Given the description of an element on the screen output the (x, y) to click on. 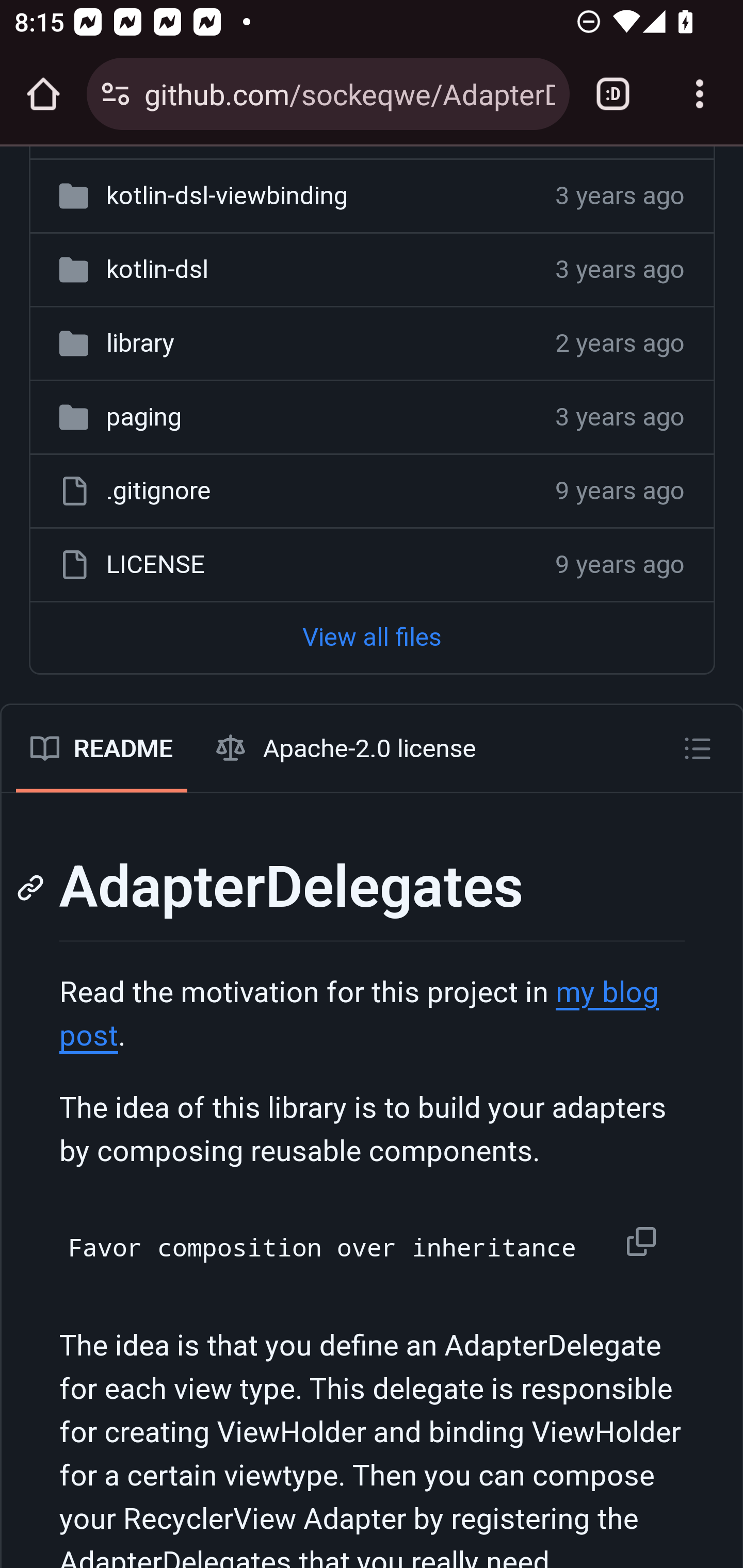
Open the home page (43, 93)
Connection is secure (115, 93)
Switch or close tabs (612, 93)
Customize and control Google Chrome (699, 93)
github.com/sockeqwe/AdapterDelegates (349, 92)
kotlin-dsl, (Directory) kotlin-dsl (156, 270)
library, (Directory) library (139, 344)
paging, (Directory) paging (143, 418)
.gitignore, (File) .gitignore (157, 492)
LICENSE, (File) LICENSE (154, 565)
View all files (371, 638)
README (100, 749)
Apache-2.0 license (346, 749)
Outline (697, 749)
Permalink: AdapterDelegates (33, 888)
my blog post (359, 1015)
Copy (644, 1242)
